Given the description of an element on the screen output the (x, y) to click on. 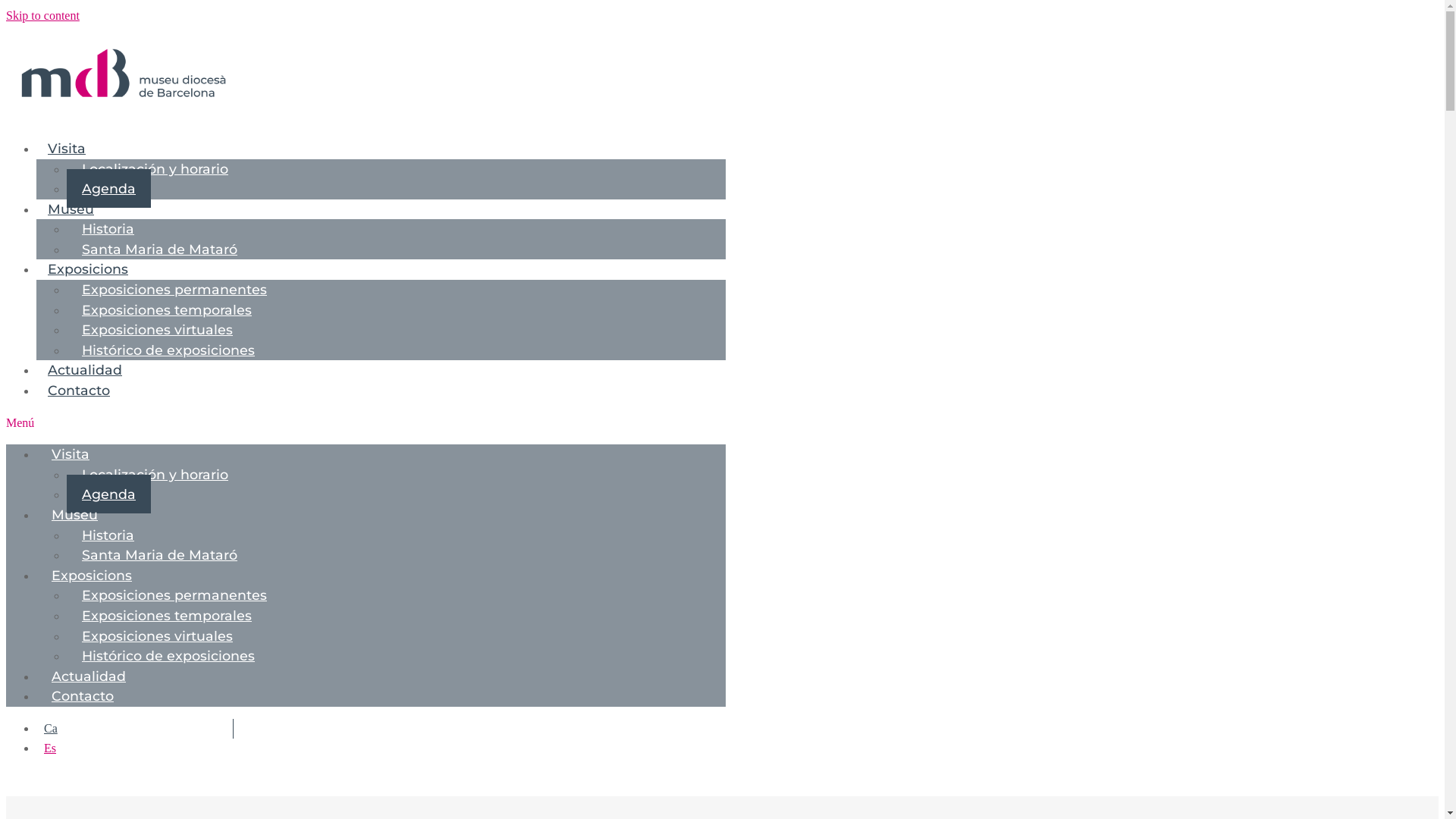
Exposiciones virtuales Element type: text (156, 635)
Exposiciones temporales Element type: text (166, 309)
Agenda Element type: text (108, 493)
Exposiciones temporales Element type: text (166, 615)
Skip to content Element type: text (42, 15)
Museu Element type: text (70, 208)
Historia Element type: text (107, 228)
Actualidad Element type: text (84, 369)
Museu Element type: text (74, 514)
Exposiciones permanentes Element type: text (174, 288)
Es Element type: text (49, 747)
Visita Element type: text (70, 453)
Visita Element type: text (66, 148)
Exposicions Element type: text (91, 574)
Actualidad Element type: text (88, 675)
Agenda Element type: text (108, 188)
Contacto Element type: text (78, 390)
Exposicions Element type: text (87, 268)
Ca Element type: text (50, 727)
Exposiciones virtuales Element type: text (156, 329)
Exposiciones permanentes Element type: text (174, 594)
Contacto Element type: text (82, 695)
Historia Element type: text (107, 534)
